Given the description of an element on the screen output the (x, y) to click on. 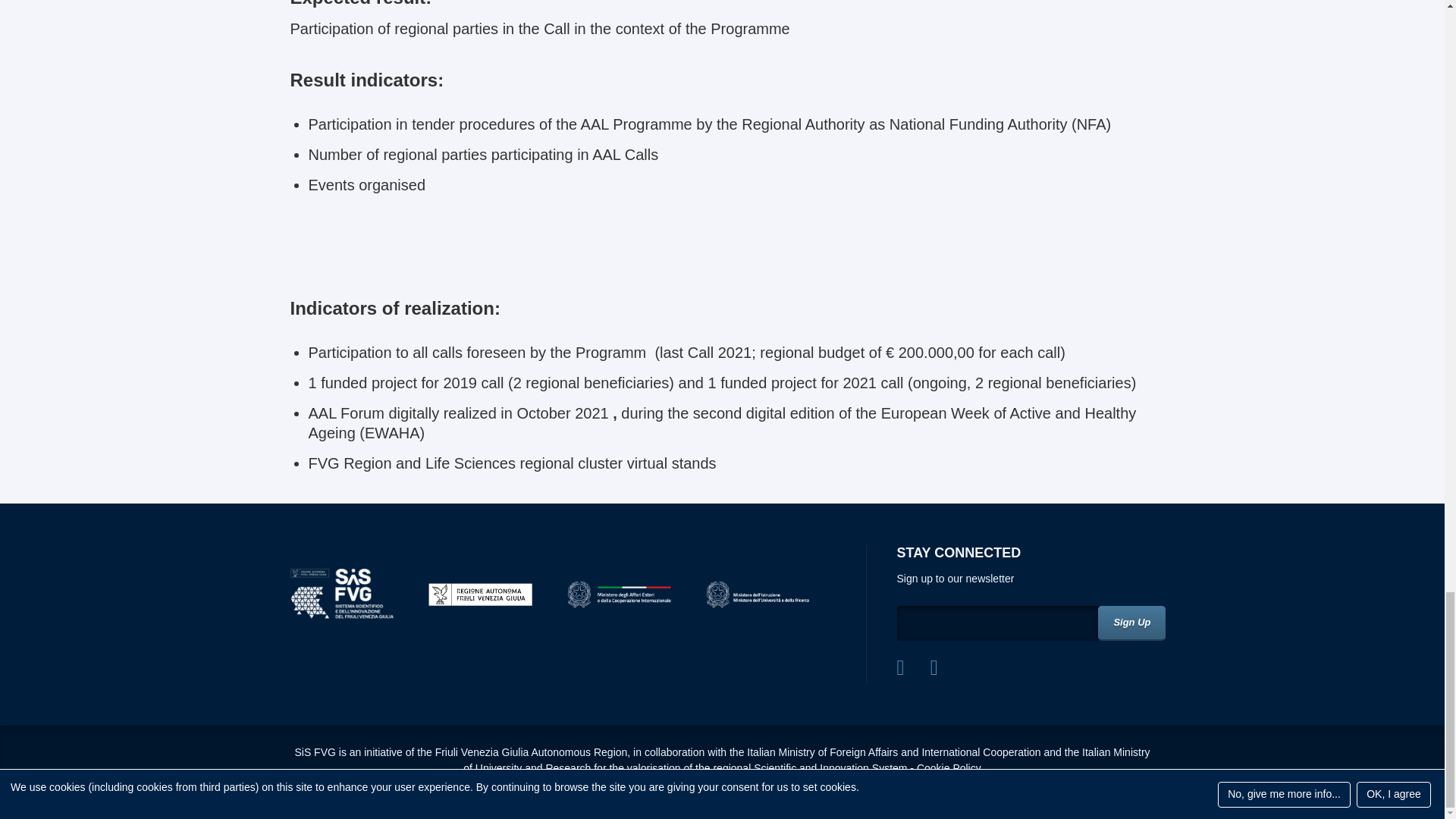
Sign Up (1131, 623)
Regione Autonoma Friuli Venezia Giulia - home (480, 594)
Facebook (900, 667)
Home (341, 594)
YouTube (933, 667)
